Given the description of an element on the screen output the (x, y) to click on. 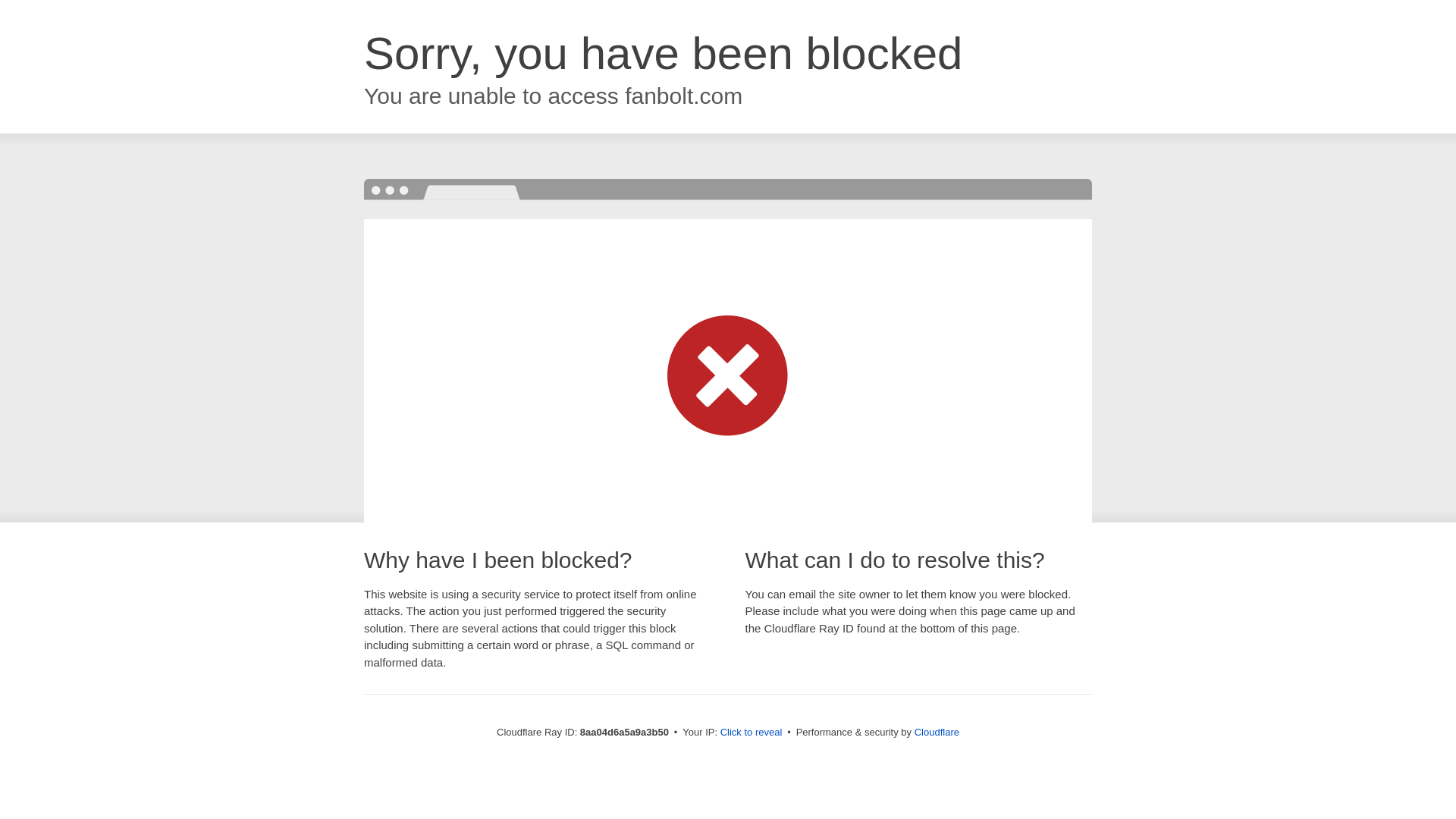
Click to reveal (751, 732)
Cloudflare (936, 731)
